Given the description of an element on the screen output the (x, y) to click on. 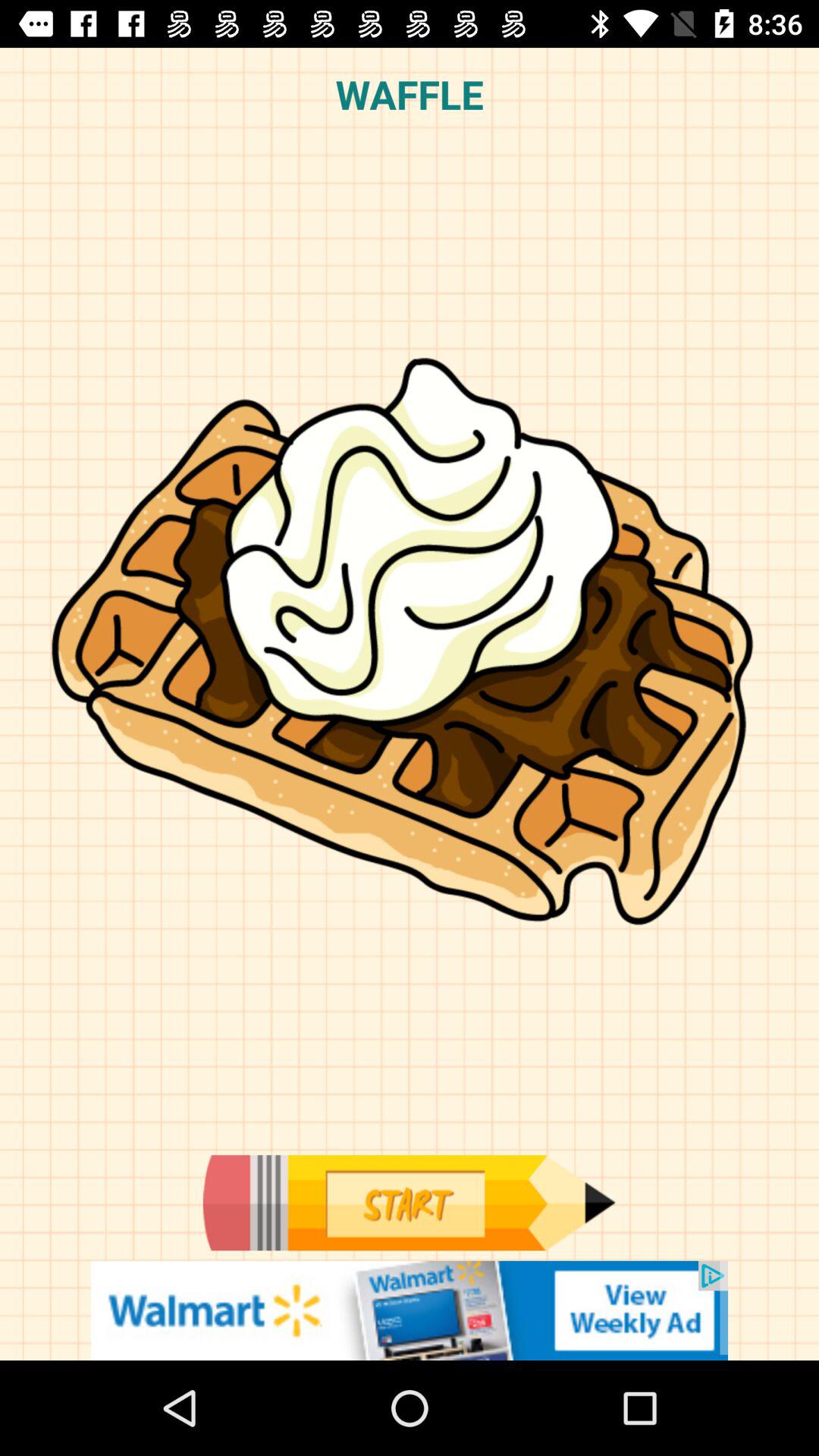
see advertisement (409, 1310)
